Given the description of an element on the screen output the (x, y) to click on. 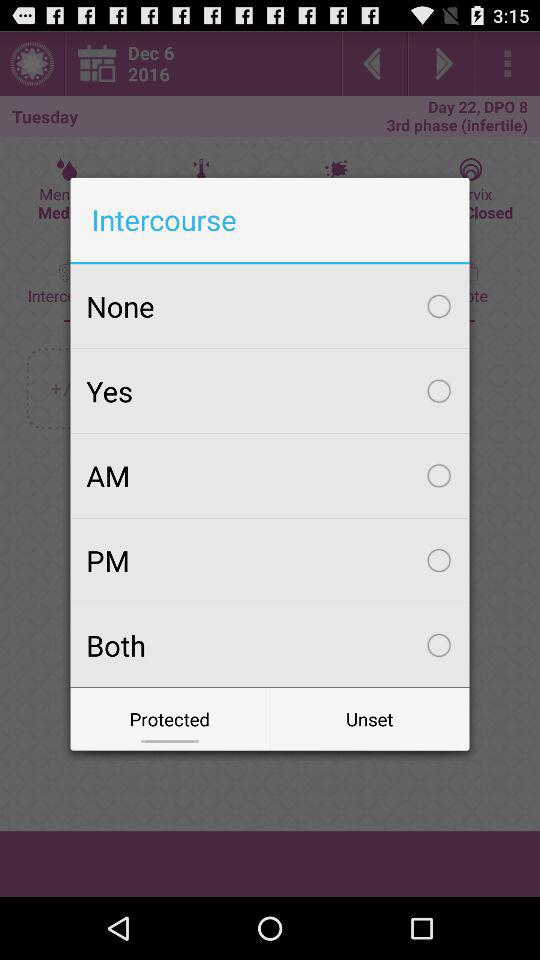
choose the icon below the both checkbox (369, 718)
